Given the description of an element on the screen output the (x, y) to click on. 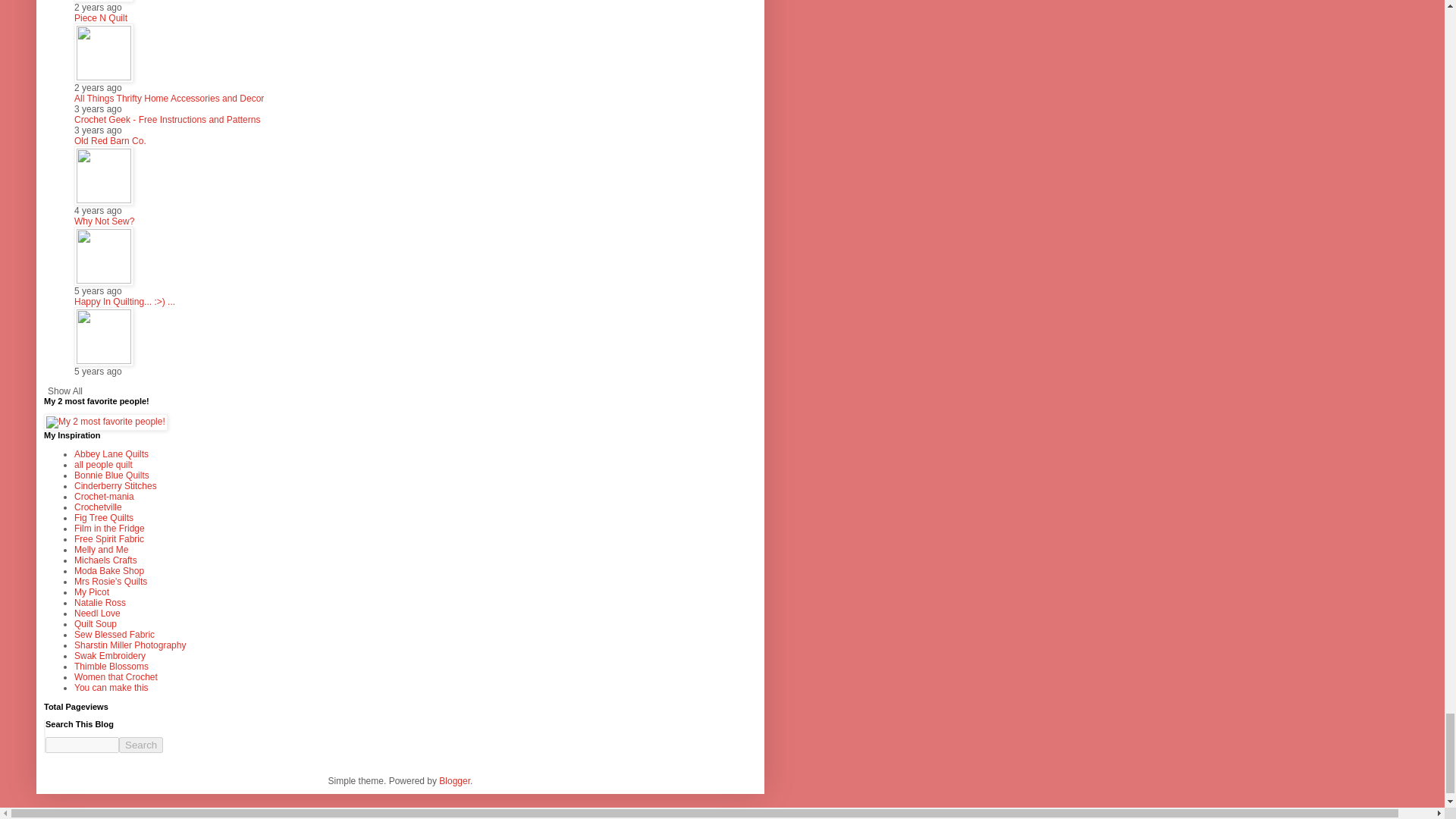
Search (141, 744)
search (141, 744)
Search (141, 744)
search (82, 744)
